Given the description of an element on the screen output the (x, y) to click on. 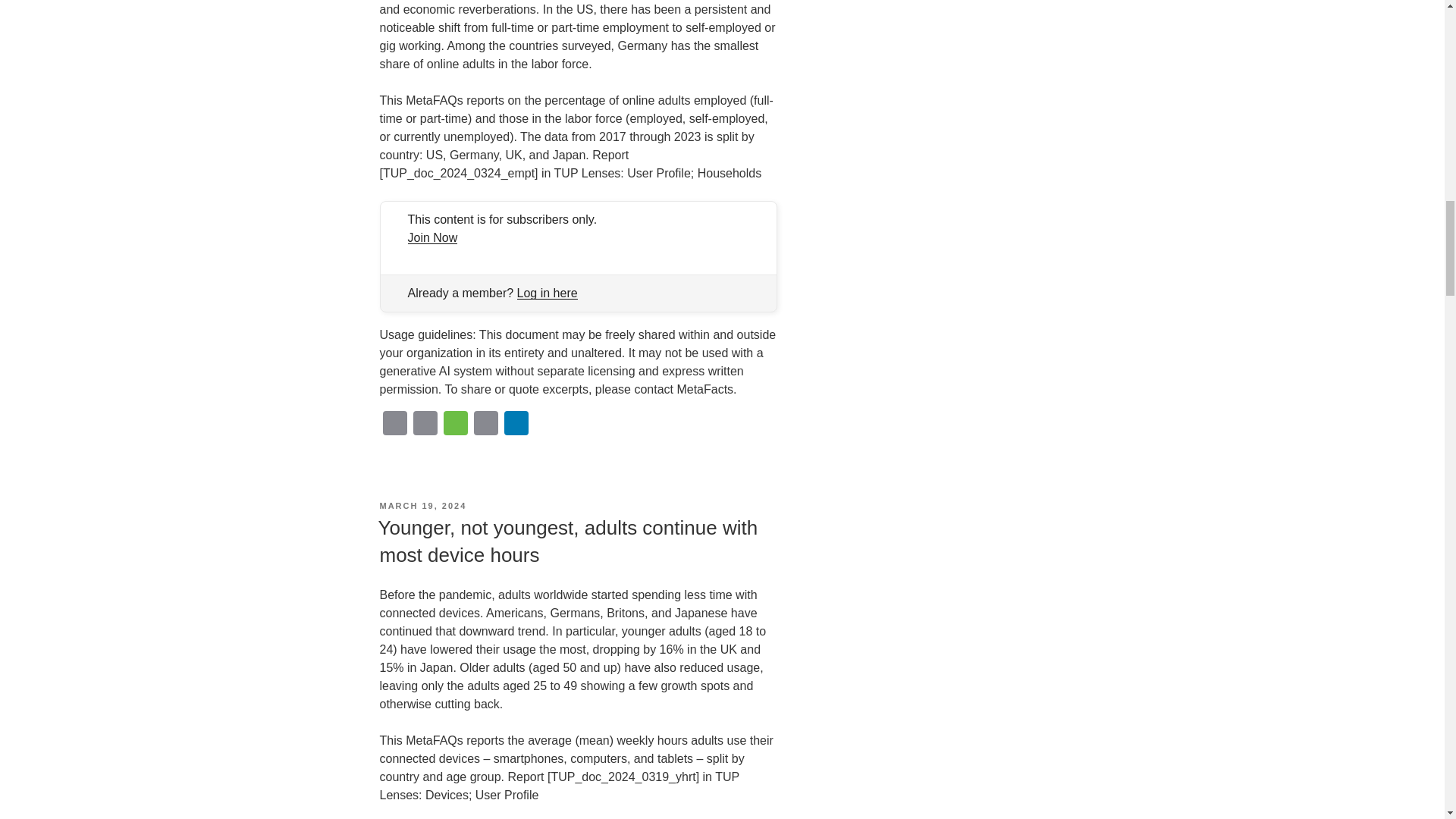
Email (393, 424)
LinkedIn (515, 424)
Print (424, 424)
Copy Link (485, 424)
Message (454, 424)
